Given the description of an element on the screen output the (x, y) to click on. 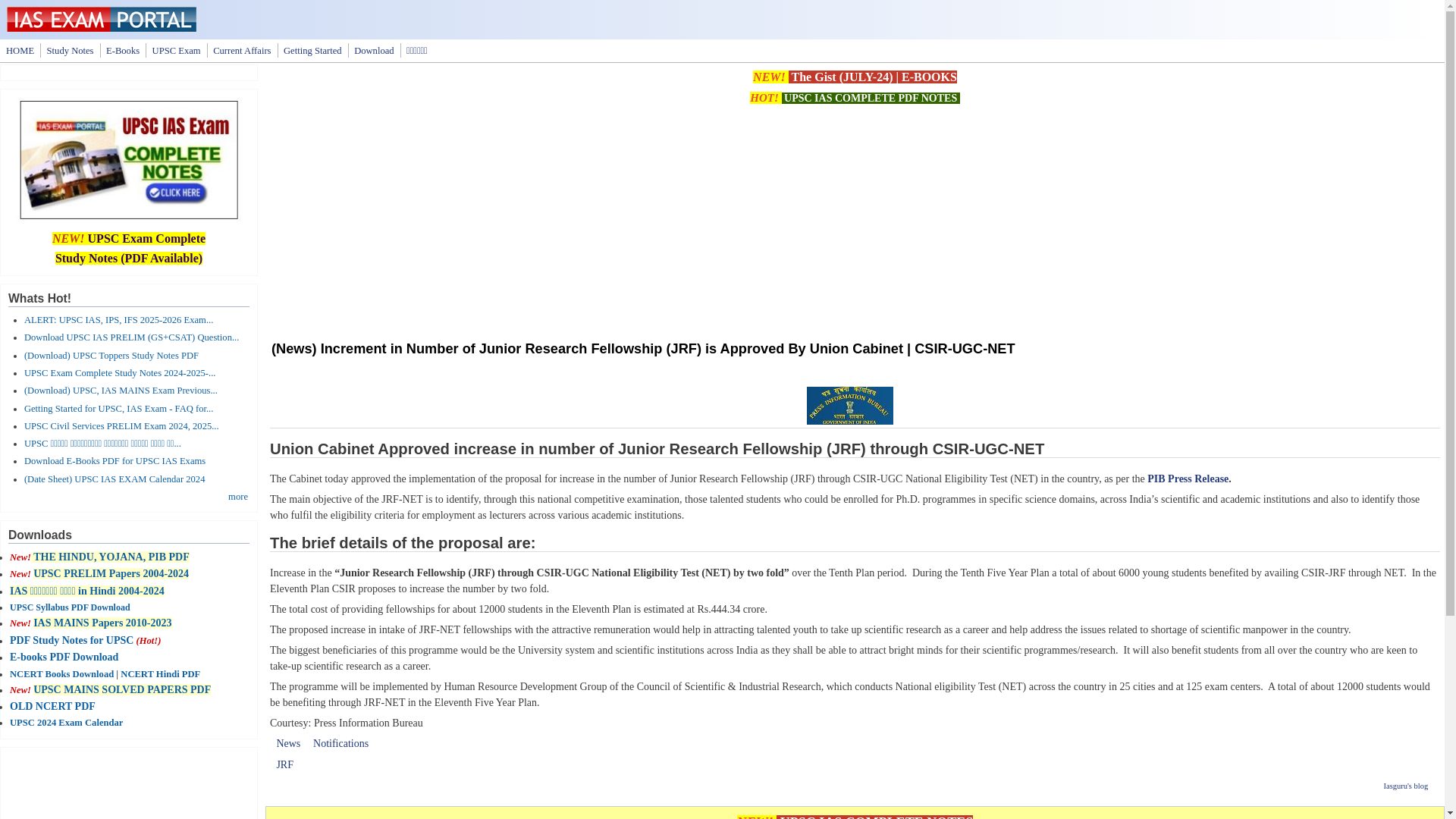
UPSC Current Affairs (241, 50)
 UPSC IAS COMPLETE PDF NOTES (869, 98)
E-books PDF Download (63, 656)
E-BOOKS (928, 76)
UPSC Exam (176, 50)
Getting Started for UPSC, IAS Exam - FAQ for... (119, 408)
Getting Started (313, 50)
Home (101, 28)
UPSC IAS PDF Study Notes (70, 50)
